Given the description of an element on the screen output the (x, y) to click on. 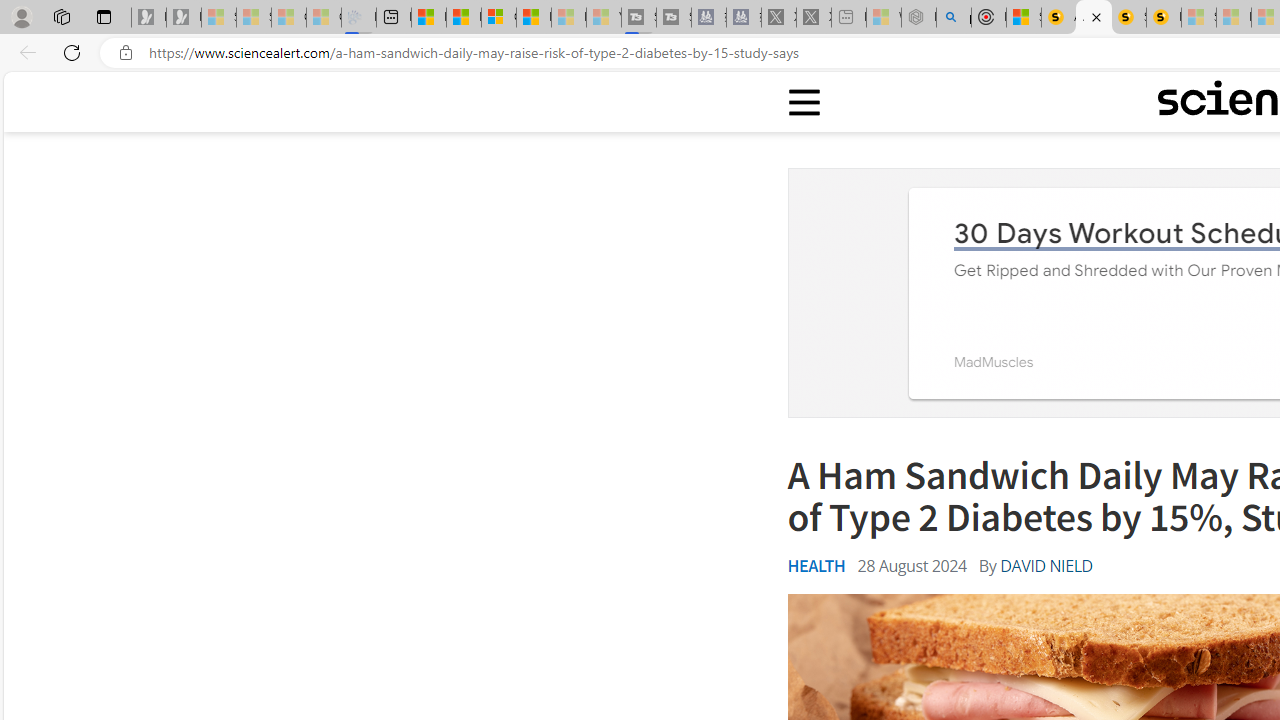
Overview (498, 17)
New tab - Sleeping (849, 17)
Newsletter Sign Up - Sleeping (183, 17)
Microsoft Start - Sleeping (568, 17)
Streaming Coverage | T3 - Sleeping (639, 17)
